Given the description of an element on the screen output the (x, y) to click on. 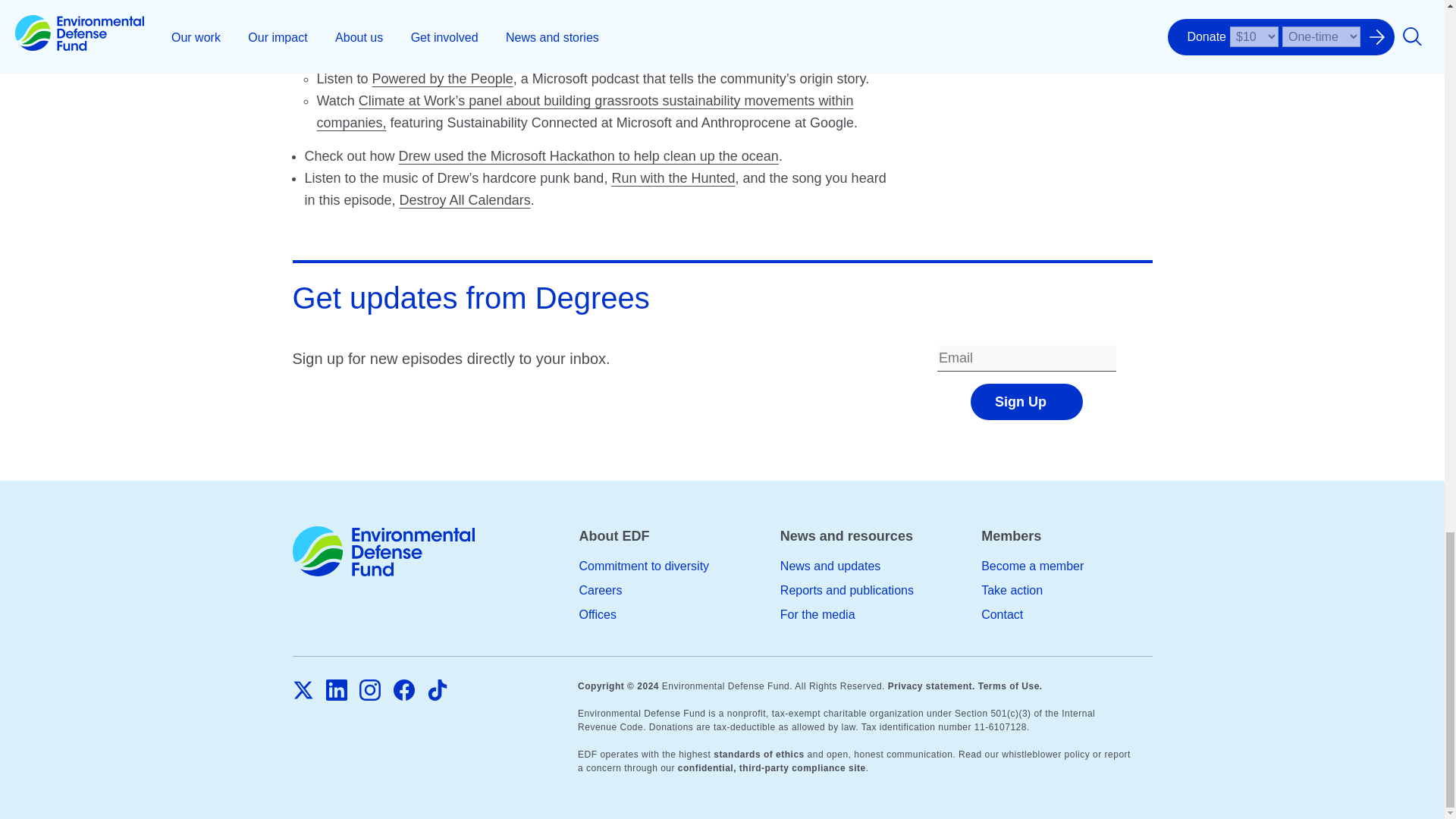
Instagram (369, 690)
Facebook (403, 690)
TikTok (437, 690)
Twitter (303, 690)
Sign Up (1027, 402)
LinkedIn (336, 690)
Facebook (403, 690)
TikTok (437, 690)
Instagram (369, 690)
Twitter (303, 690)
LinkedIn (336, 690)
